Given the description of an element on the screen output the (x, y) to click on. 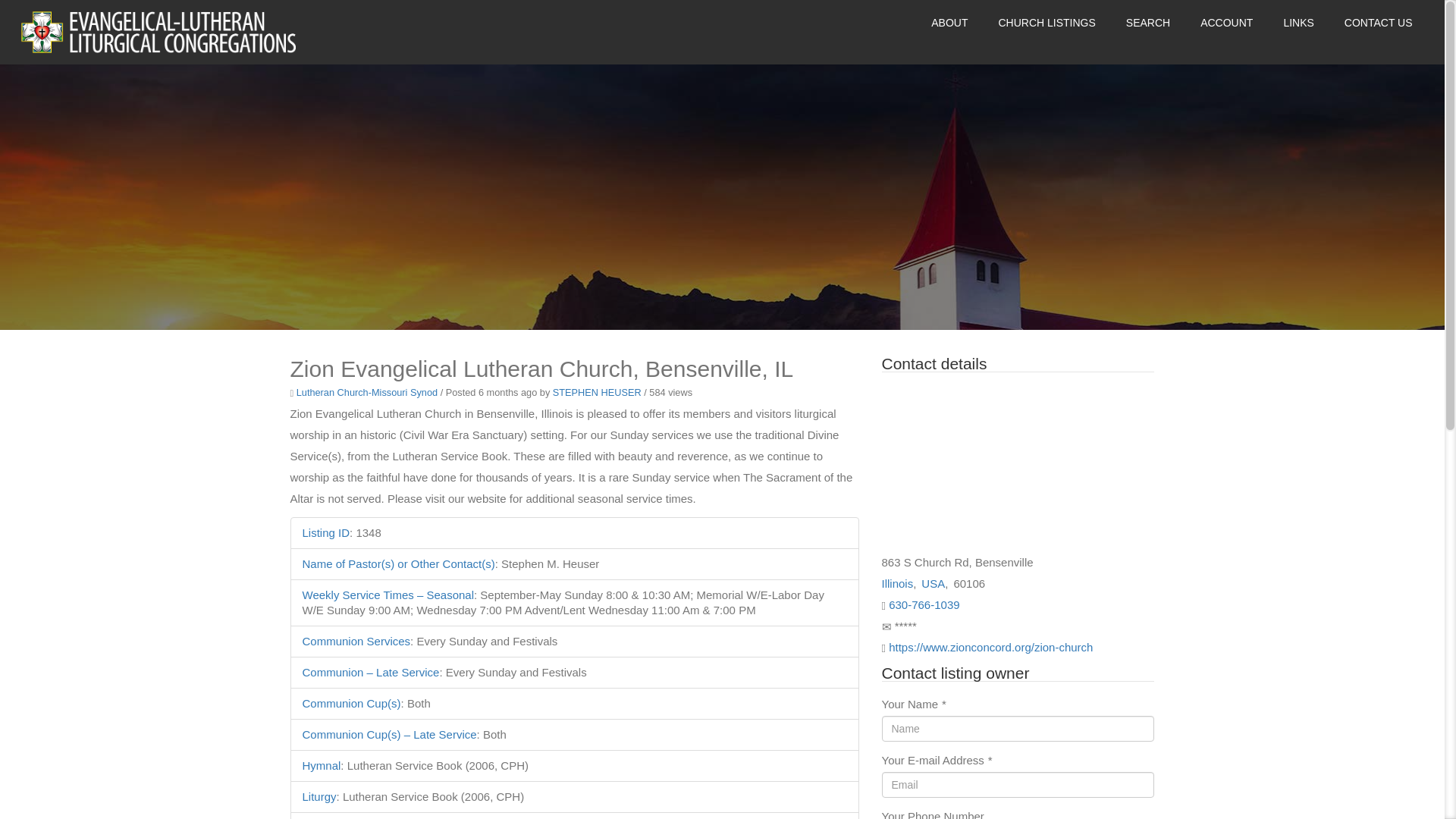
Illinois (896, 583)
ACCOUNT (1225, 22)
SEARCH (1147, 22)
LINKS (1297, 22)
630-766-1039 (923, 604)
Evangelical-Lutheran Liturgical Congregations (158, 48)
Lutheran Church-Missouri Synod (367, 392)
USA (932, 583)
STEPHEN HEUSER (597, 392)
CONTACT US (1377, 22)
